Given the description of an element on the screen output the (x, y) to click on. 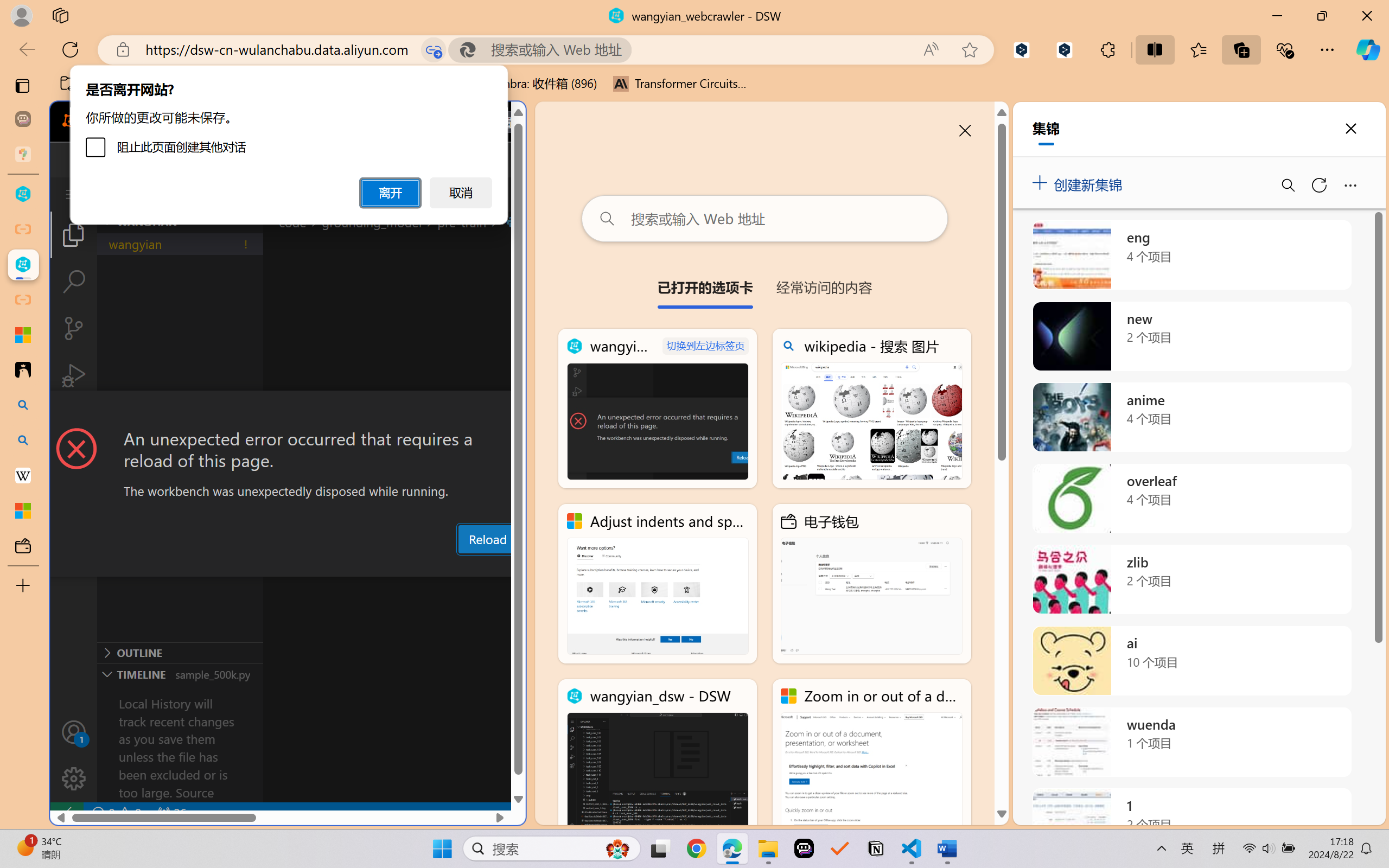
No Problems (115, 812)
Manage (73, 755)
Class: actions-container (287, 410)
wangyian_webcrawler - DSW (657, 408)
Copilot (Ctrl+Shift+.) (1368, 49)
Debug Console (Ctrl+Shift+Y) (463, 565)
